Given the description of an element on the screen output the (x, y) to click on. 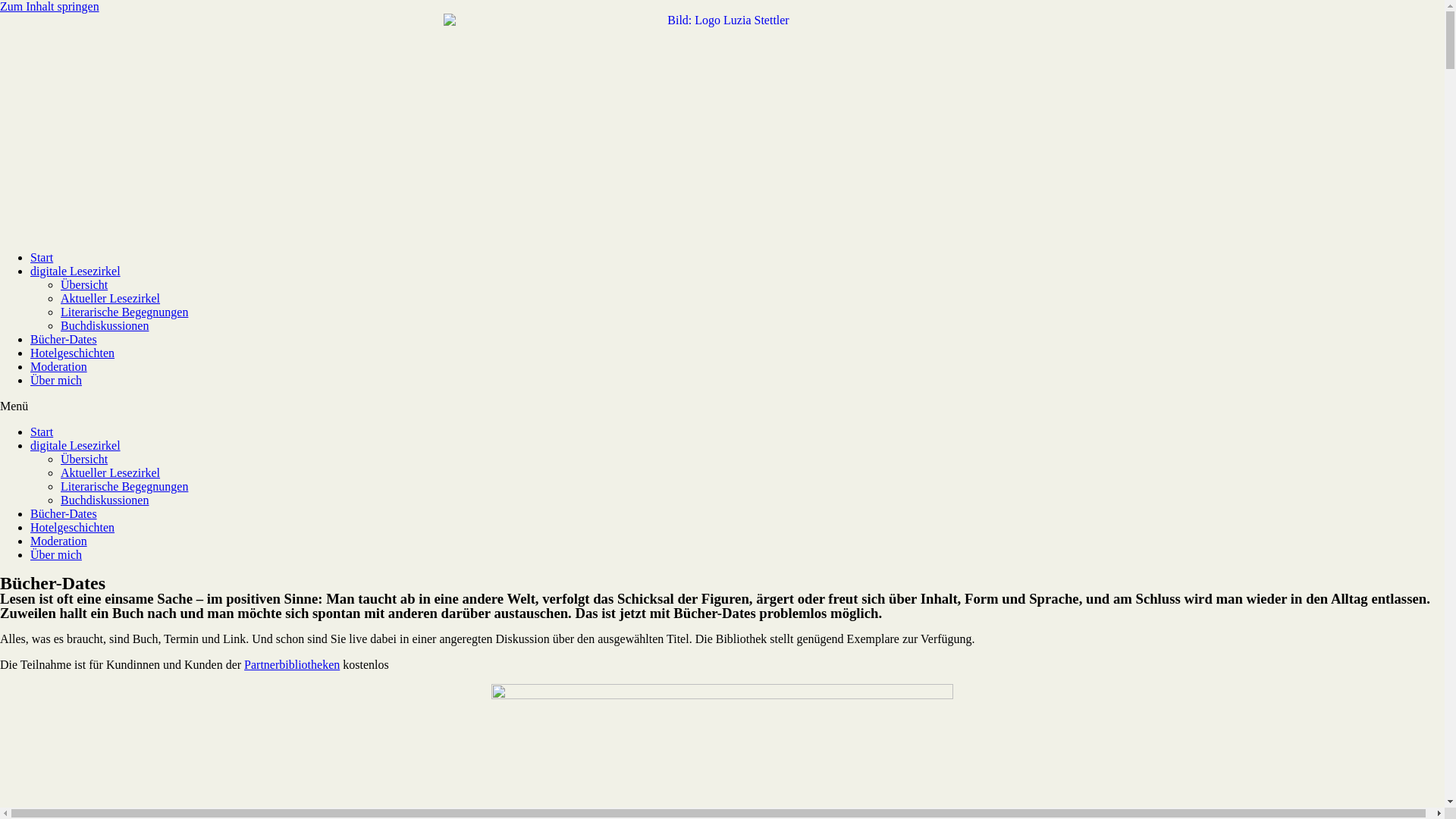
Hotelgeschichten Element type: text (72, 526)
Hotelgeschichten Element type: text (72, 352)
Moderation Element type: text (58, 366)
Zum Inhalt springen Element type: text (49, 6)
Moderation Element type: text (58, 540)
Buchdiskussionen Element type: text (104, 499)
Aktueller Lesezirkel Element type: text (110, 472)
Start Element type: text (41, 431)
digitale Lesezirkel Element type: text (75, 445)
Buchdiskussionen Element type: text (104, 325)
Partnerbibliotheken Element type: text (291, 664)
Literarische Begegnungen Element type: text (124, 486)
Aktueller Lesezirkel Element type: text (110, 297)
Start Element type: text (41, 257)
Literarische Begegnungen Element type: text (124, 311)
digitale Lesezirkel Element type: text (75, 270)
